Given the description of an element on the screen output the (x, y) to click on. 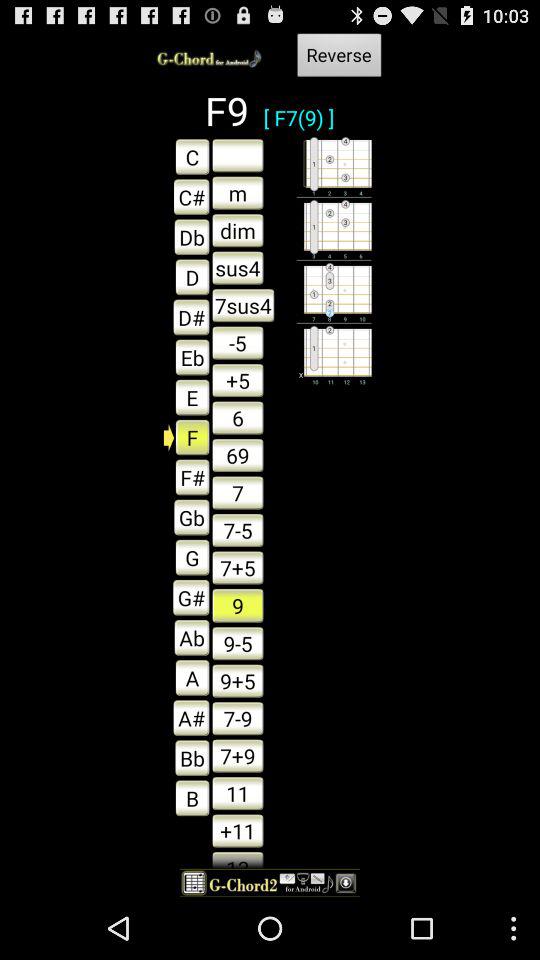
adjust note (237, 155)
